Given the description of an element on the screen output the (x, y) to click on. 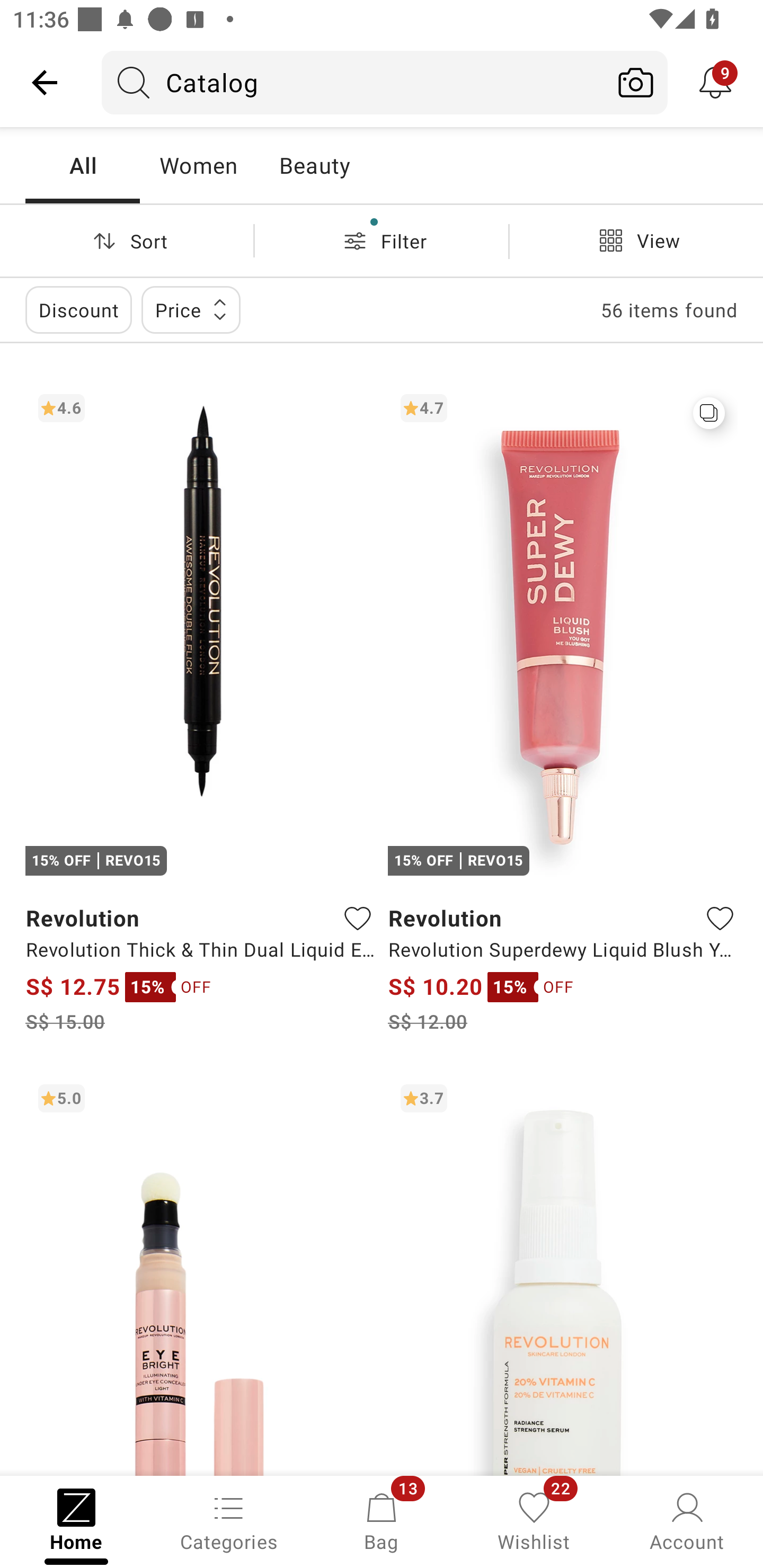
Navigate up (44, 82)
Catalog (352, 82)
Women (198, 165)
Beauty (314, 165)
Sort (126, 240)
Filter (381, 240)
View (636, 240)
Discount (78, 309)
Price (190, 309)
5.0 (200, 1272)
3.7 (562, 1272)
Categories (228, 1519)
Bag, 13 new notifications Bag (381, 1519)
Wishlist, 22 new notifications Wishlist (533, 1519)
Account (686, 1519)
